Given the description of an element on the screen output the (x, y) to click on. 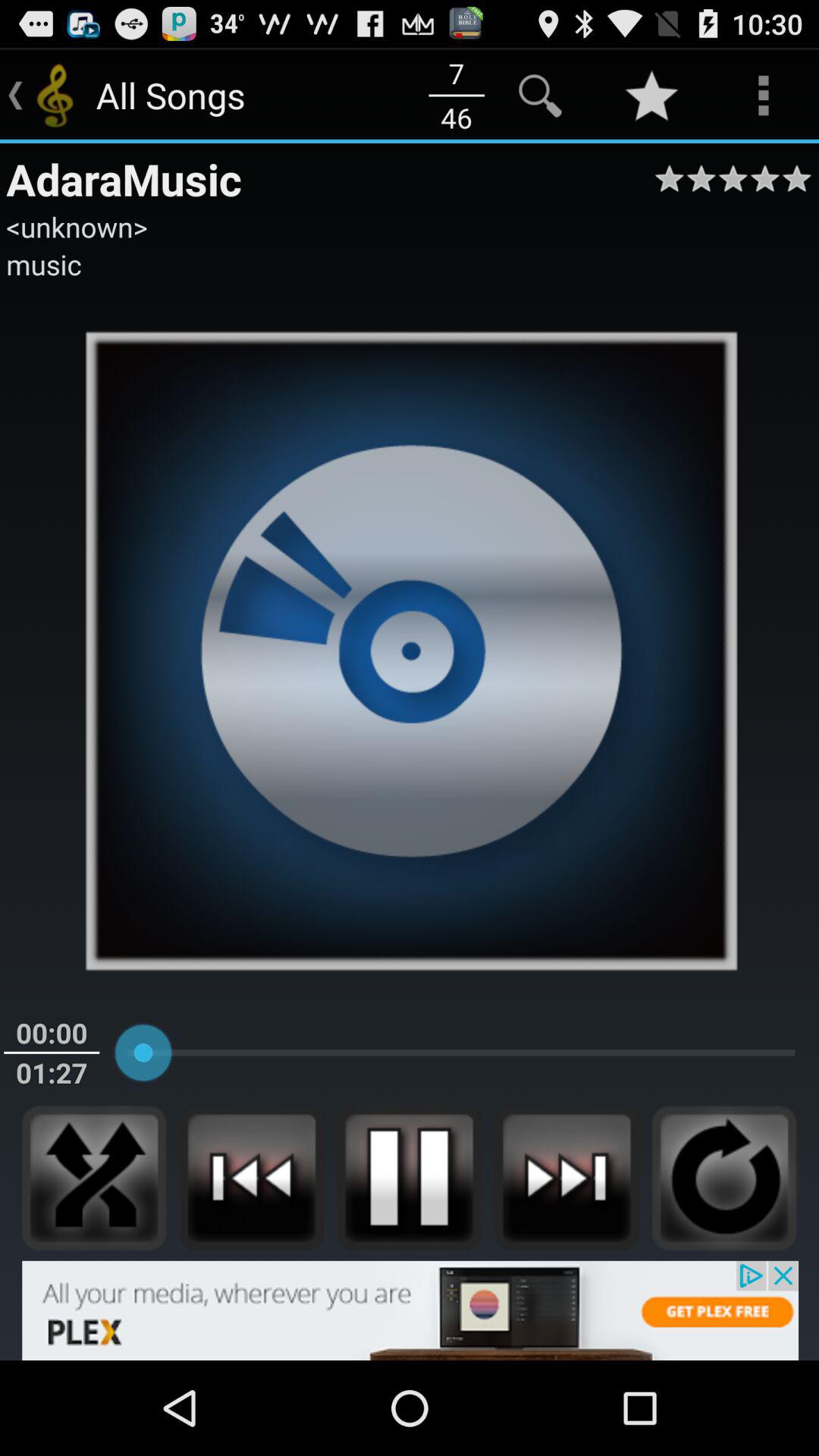
shuffle (93, 1177)
